Given the description of an element on the screen output the (x, y) to click on. 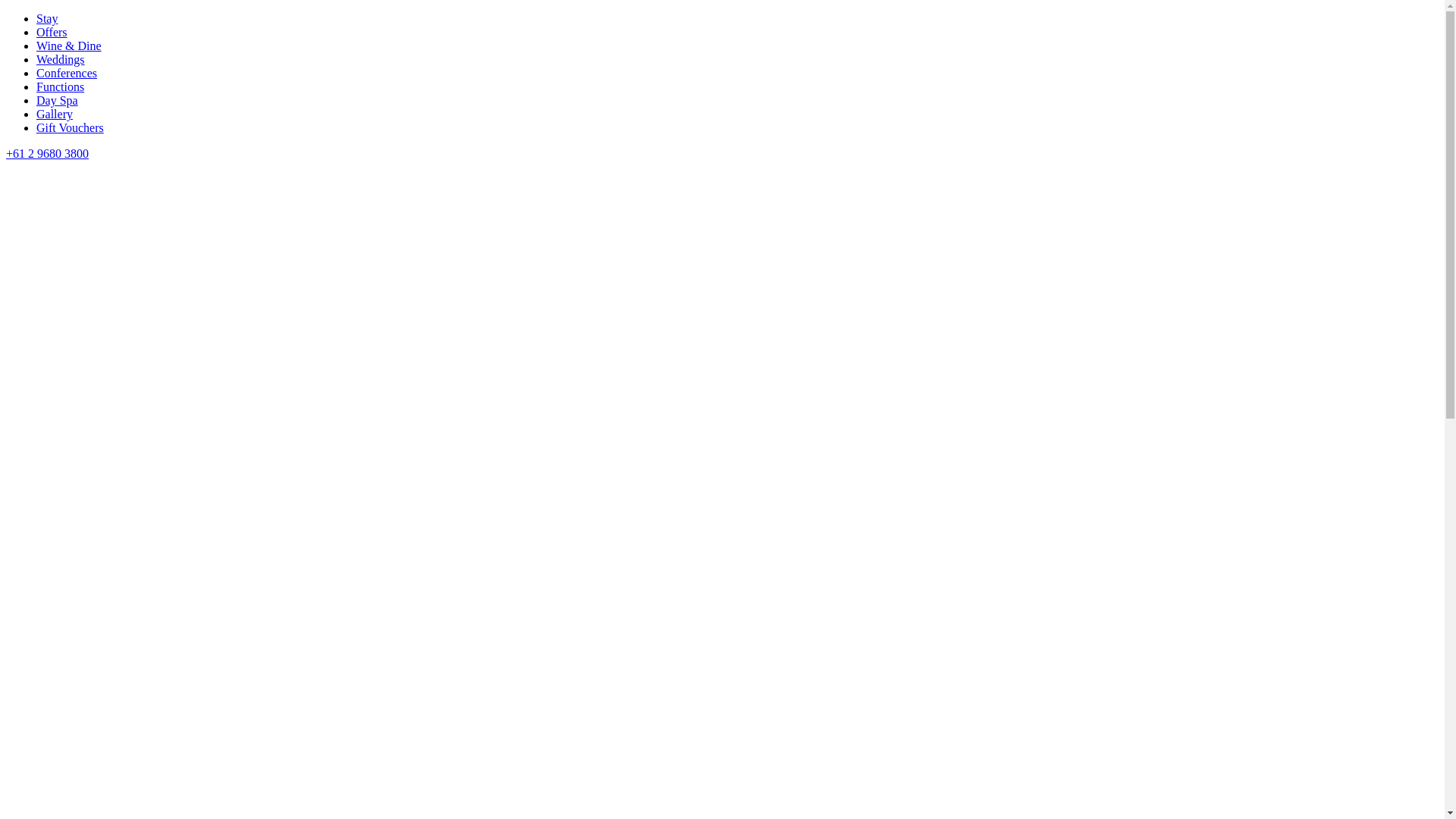
+61 2 9680 3800 Element type: text (47, 153)
Functions Element type: text (60, 86)
Gallery Element type: text (54, 113)
Wine & Dine Element type: text (68, 45)
Day Spa Element type: text (57, 100)
Weddings Element type: text (60, 59)
Gift Vouchers Element type: text (69, 127)
Offers Element type: text (51, 31)
Conferences Element type: text (66, 72)
Stay Element type: text (46, 18)
